Given the description of an element on the screen output the (x, y) to click on. 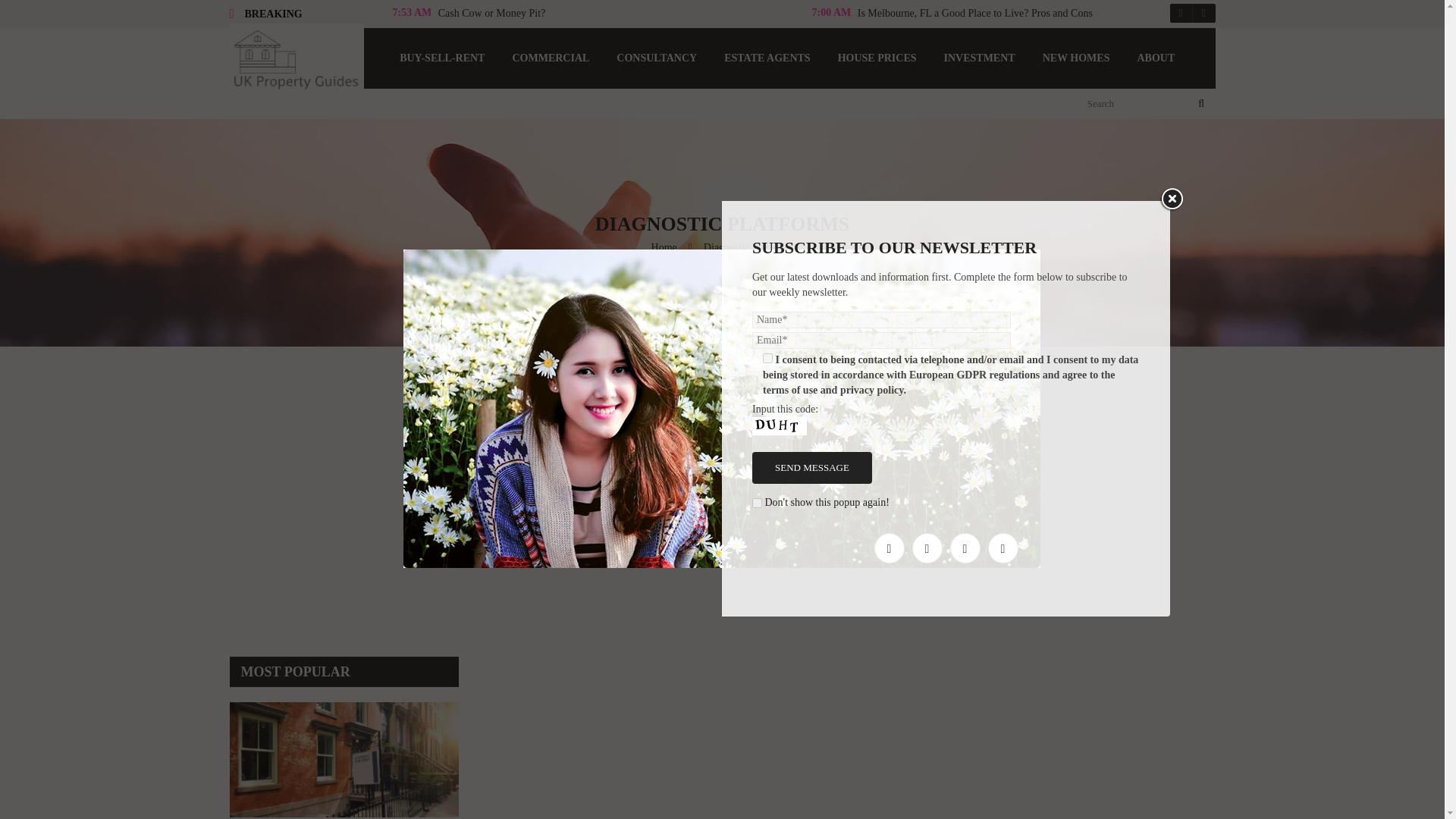
Advertisement (355, 524)
BUY-SELL-RENT (441, 57)
Facebook (888, 548)
CONSULTANCY (656, 57)
ESTATE AGENTS (767, 57)
HOUSE PRICES (877, 57)
ABOUT (1155, 57)
NEW HOMES (1076, 57)
Home (663, 247)
Is Melbourne, FL a Good Place to Live? Pros and Cons (975, 13)
Send message (812, 468)
Twitter (926, 548)
INVESTMENT (978, 57)
1 (767, 357)
COMMERCIAL (549, 57)
